Given the description of an element on the screen output the (x, y) to click on. 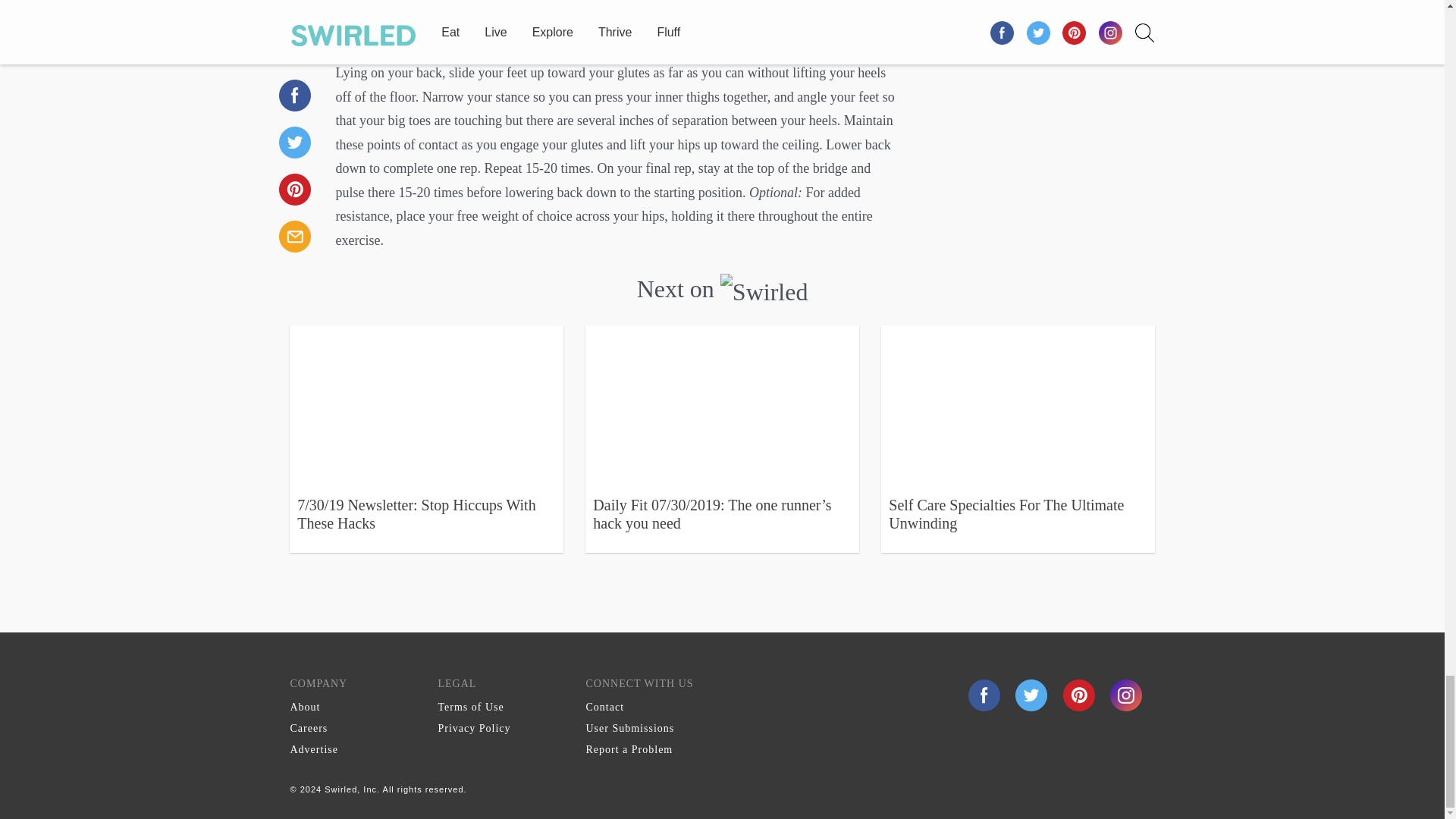
Twitter (1033, 694)
Instagram (1125, 694)
Pinterest (1081, 694)
Facebook (984, 694)
